Given the description of an element on the screen output the (x, y) to click on. 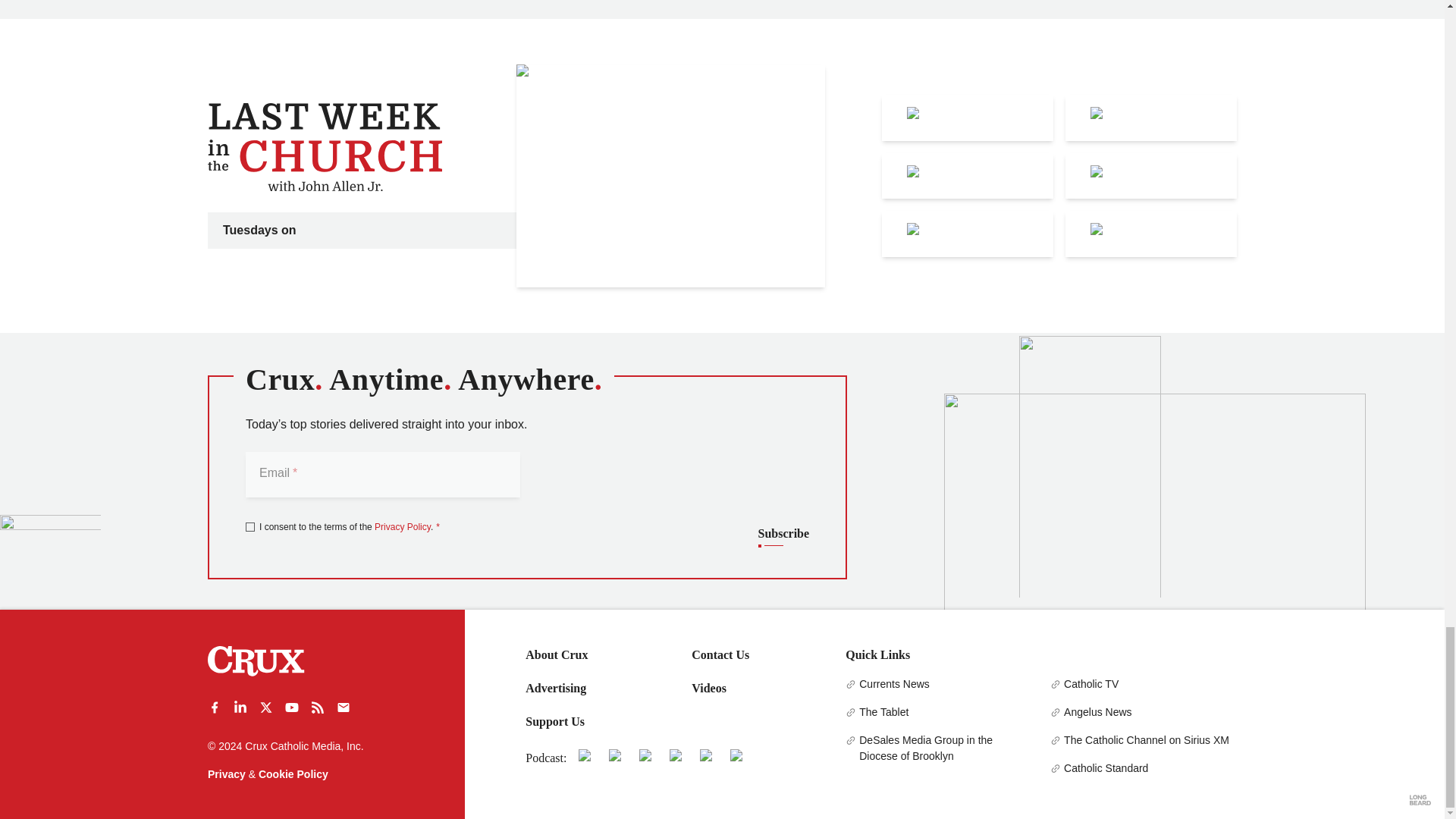
required (435, 526)
required (293, 472)
true (250, 526)
